Given the description of an element on the screen output the (x, y) to click on. 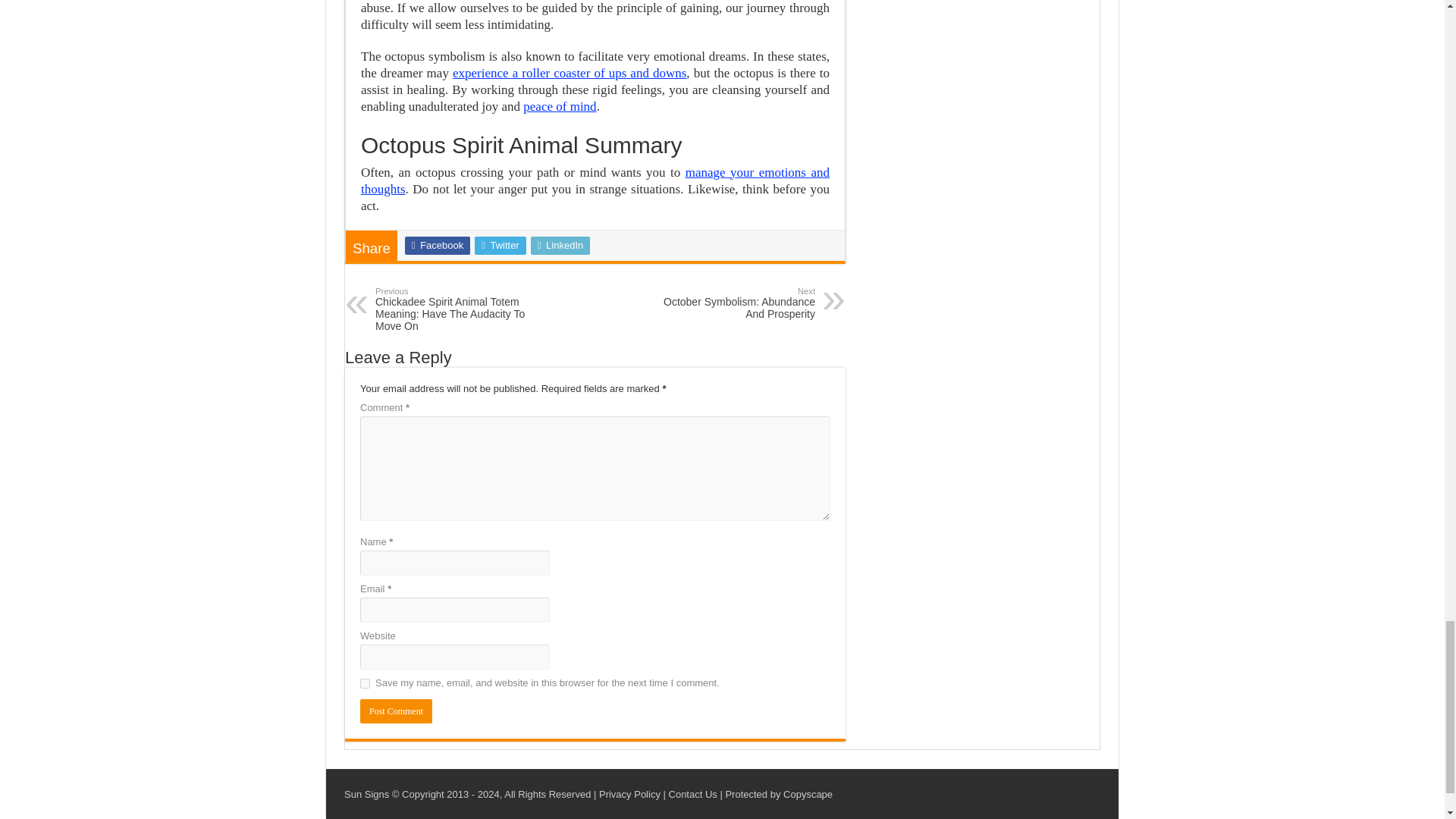
Venus In 4th House Meaning (558, 106)
yes (364, 683)
Post Comment (395, 711)
